Given the description of an element on the screen output the (x, y) to click on. 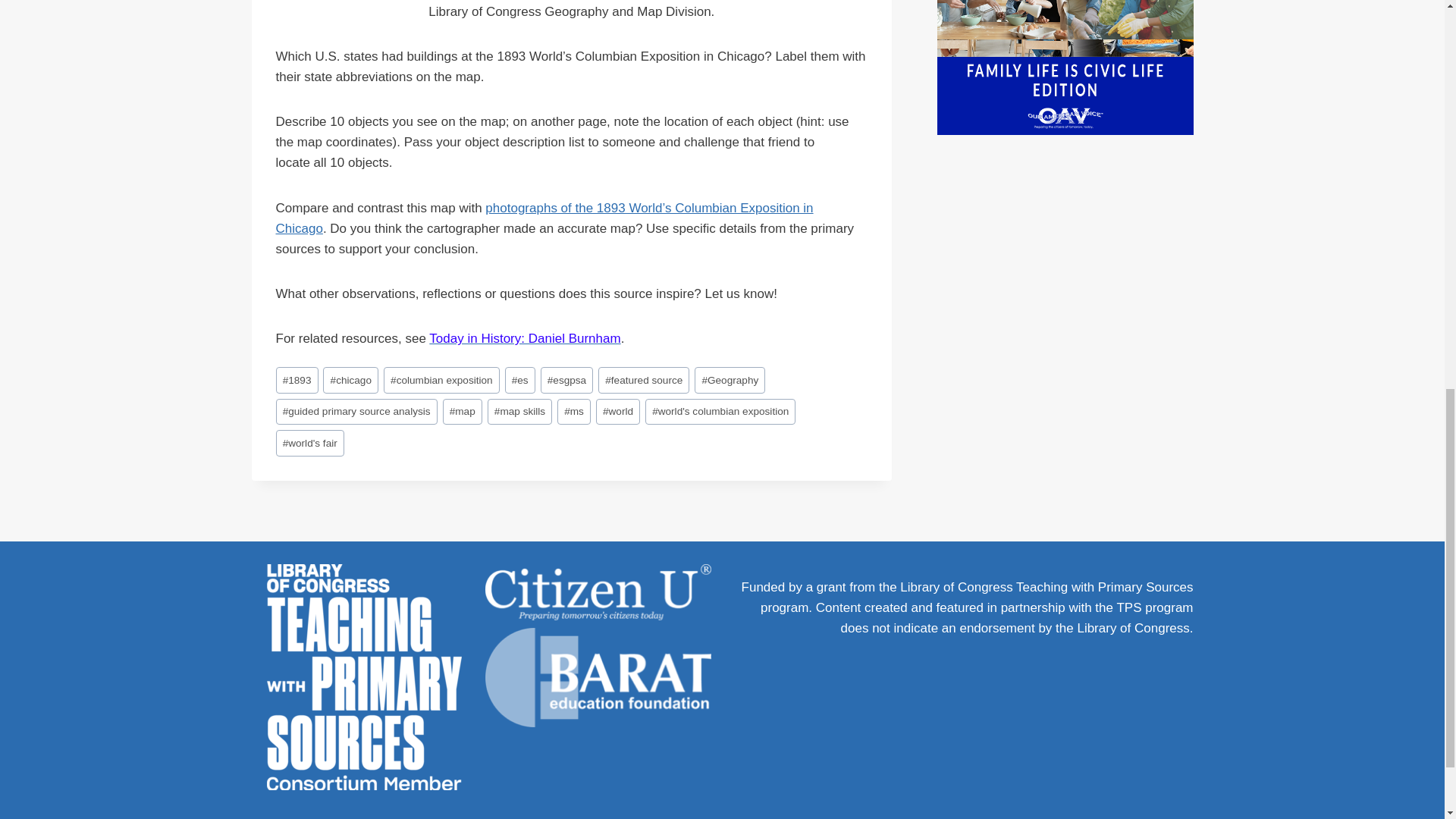
ms (574, 411)
chicago (350, 379)
1893 (297, 379)
esgpsa (567, 379)
Today in History: Daniel Burnham (524, 338)
map skills (520, 411)
Geography (729, 379)
featured source (643, 379)
es (520, 379)
